Given the description of an element on the screen output the (x, y) to click on. 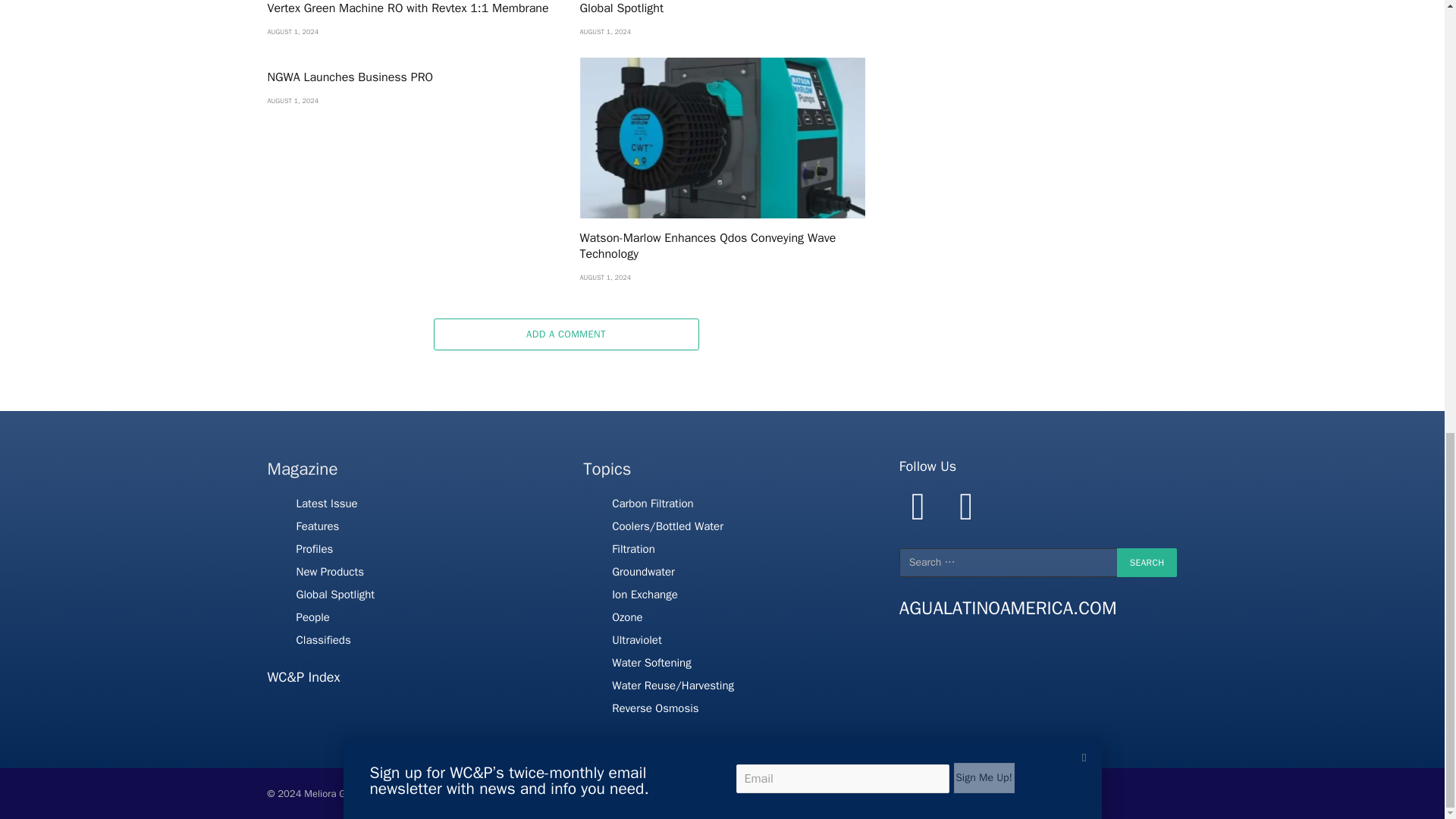
Search (1146, 562)
Search (1146, 562)
